Given the description of an element on the screen output the (x, y) to click on. 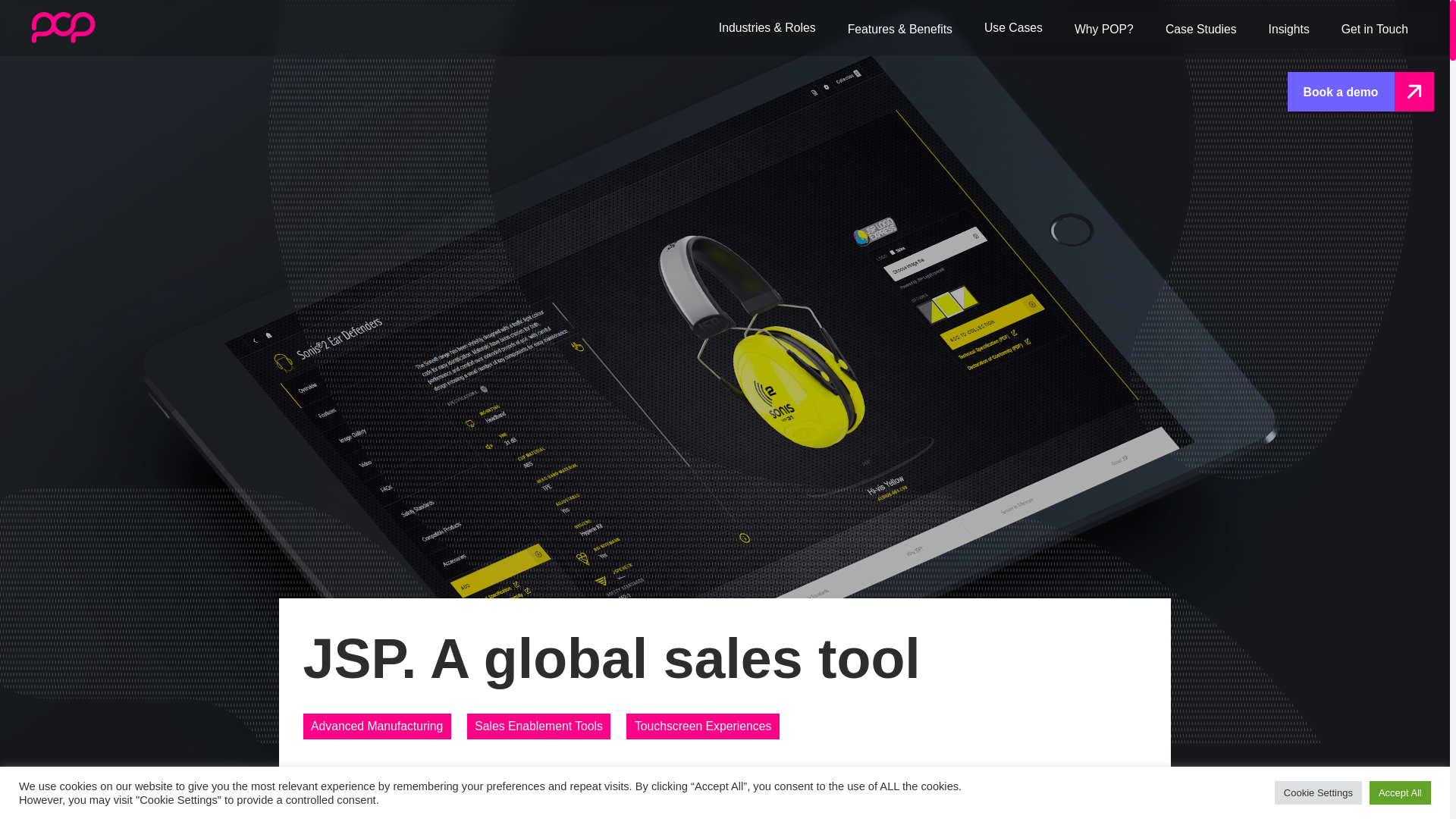
Insights (1288, 28)
Case Studies (1201, 28)
Get in Touch (1373, 28)
CASE STUDIES (346, 607)
Advanced Manufacturing (376, 726)
Why POP? (1104, 28)
Sales Enablement Tools (539, 726)
scroll (724, 799)
Book a demo (1360, 91)
